Given the description of an element on the screen output the (x, y) to click on. 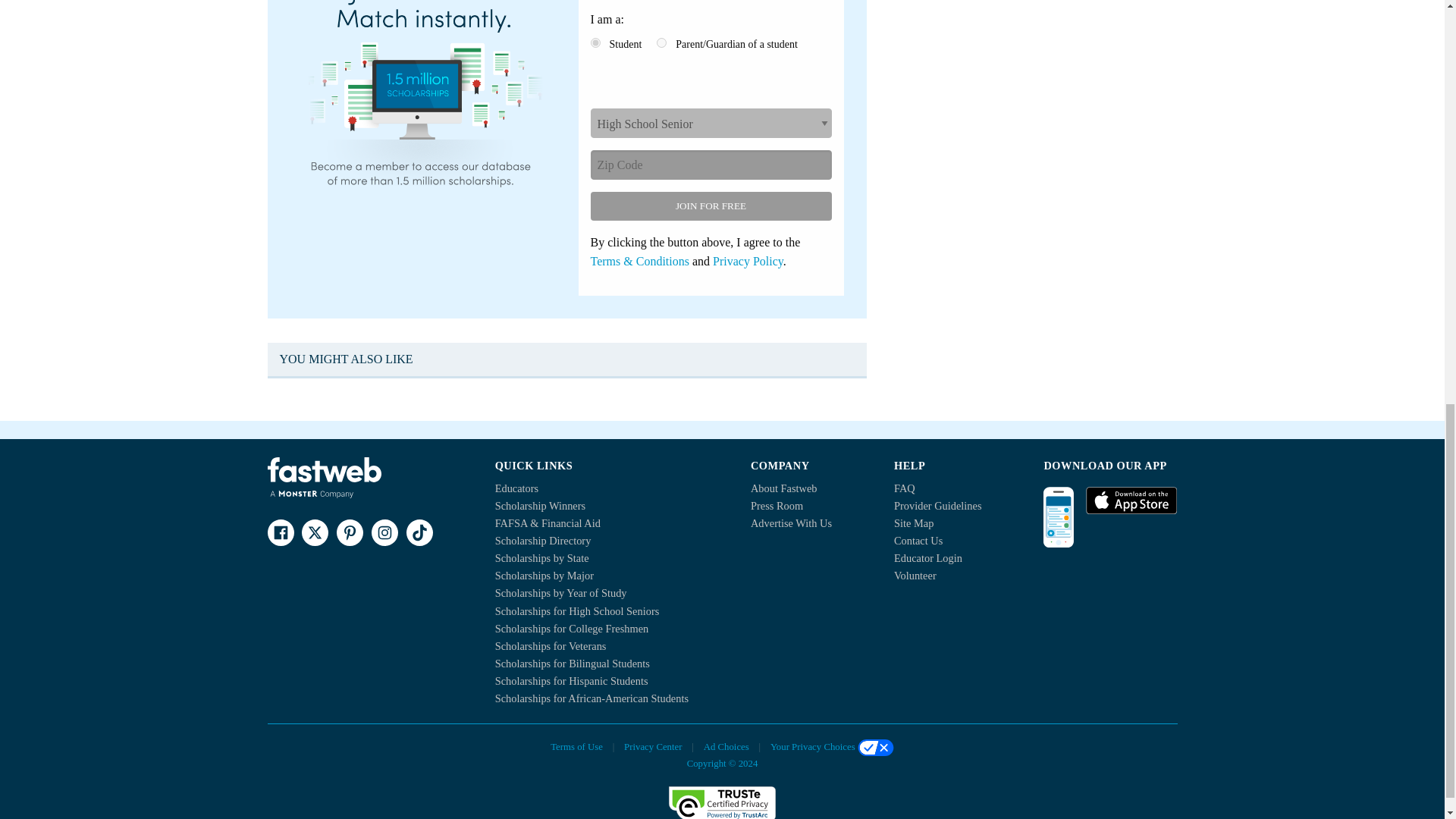
Fastweb on Facebook (280, 532)
1 (594, 42)
Fastweb on TikTok (419, 532)
Join for free (710, 205)
Fastweb on Instagram (384, 532)
Fastweb on Pinterest (349, 532)
2 (661, 42)
Fastweb on IOS (1131, 500)
